Given the description of an element on the screen output the (x, y) to click on. 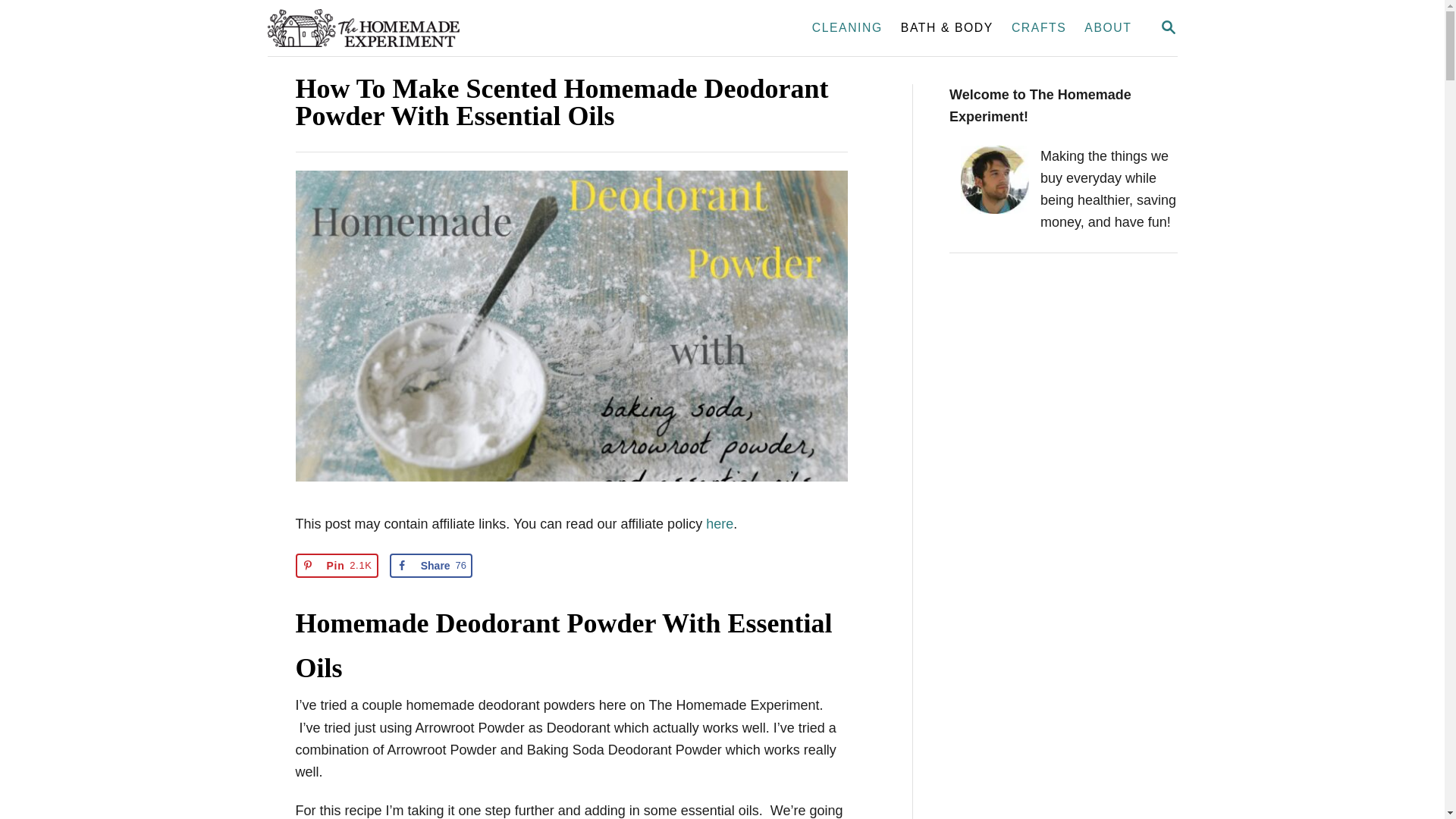
CRAFTS (1039, 28)
here (719, 522)
MAGNIFYING GLASS (1167, 27)
ABOUT (1107, 28)
DIY and Homemade Crafts (1039, 28)
CLEANING (847, 28)
Homemade Hygiene Products (336, 565)
Save to Pinterest (947, 28)
The Homemade Experiment (431, 565)
Homemade Cleaning Products (336, 565)
